Given the description of an element on the screen output the (x, y) to click on. 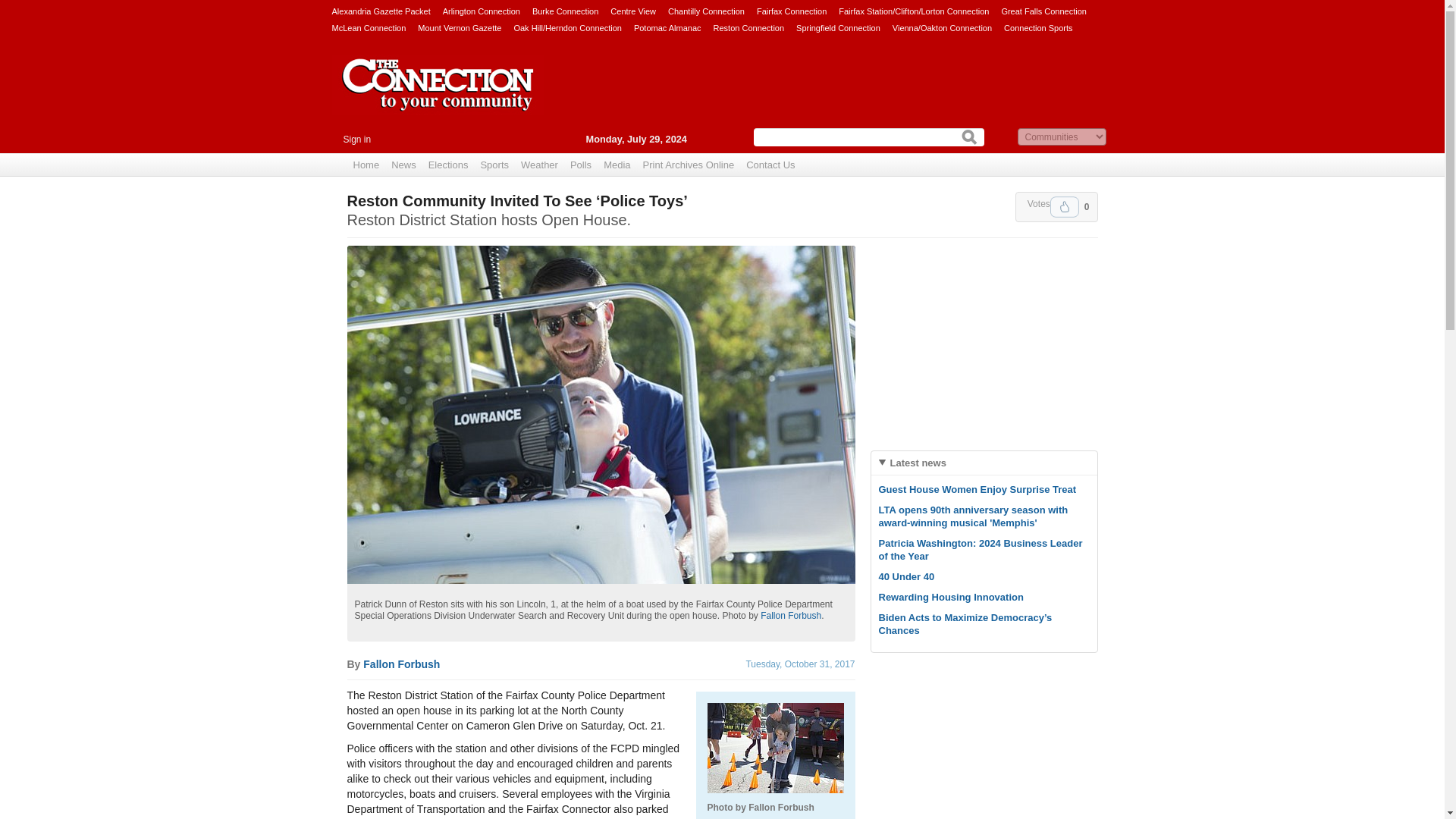
Arlington Connection (480, 11)
News (403, 164)
Centre View (633, 11)
Connection Sports (1038, 27)
Sign in (356, 139)
Mount Vernon Gazette (458, 27)
Springfield Connection (838, 27)
Potomac Almanac (667, 27)
Home (366, 164)
Great Falls Connection (1043, 11)
Chantilly Connection (706, 11)
Fairfax Connection (792, 11)
Elections (448, 164)
McLean Connection (368, 27)
Burke Connection (565, 11)
